Given the description of an element on the screen output the (x, y) to click on. 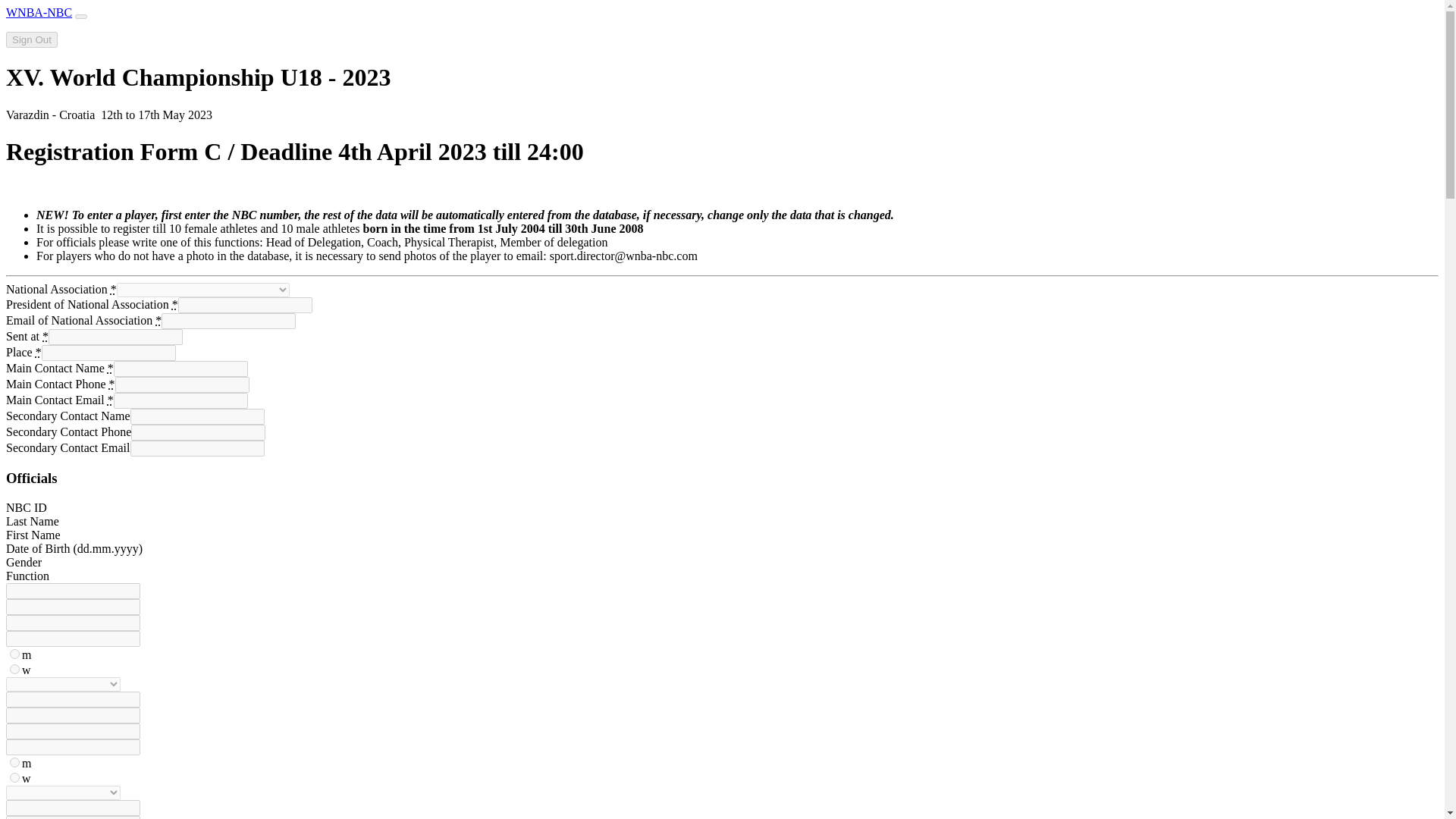
required (113, 288)
required (110, 399)
required (38, 351)
required (110, 367)
m (15, 654)
Sign Out (31, 39)
w (15, 669)
required (158, 319)
required (112, 383)
required (45, 336)
WNBA-NBC (38, 11)
required (174, 304)
